Given the description of an element on the screen output the (x, y) to click on. 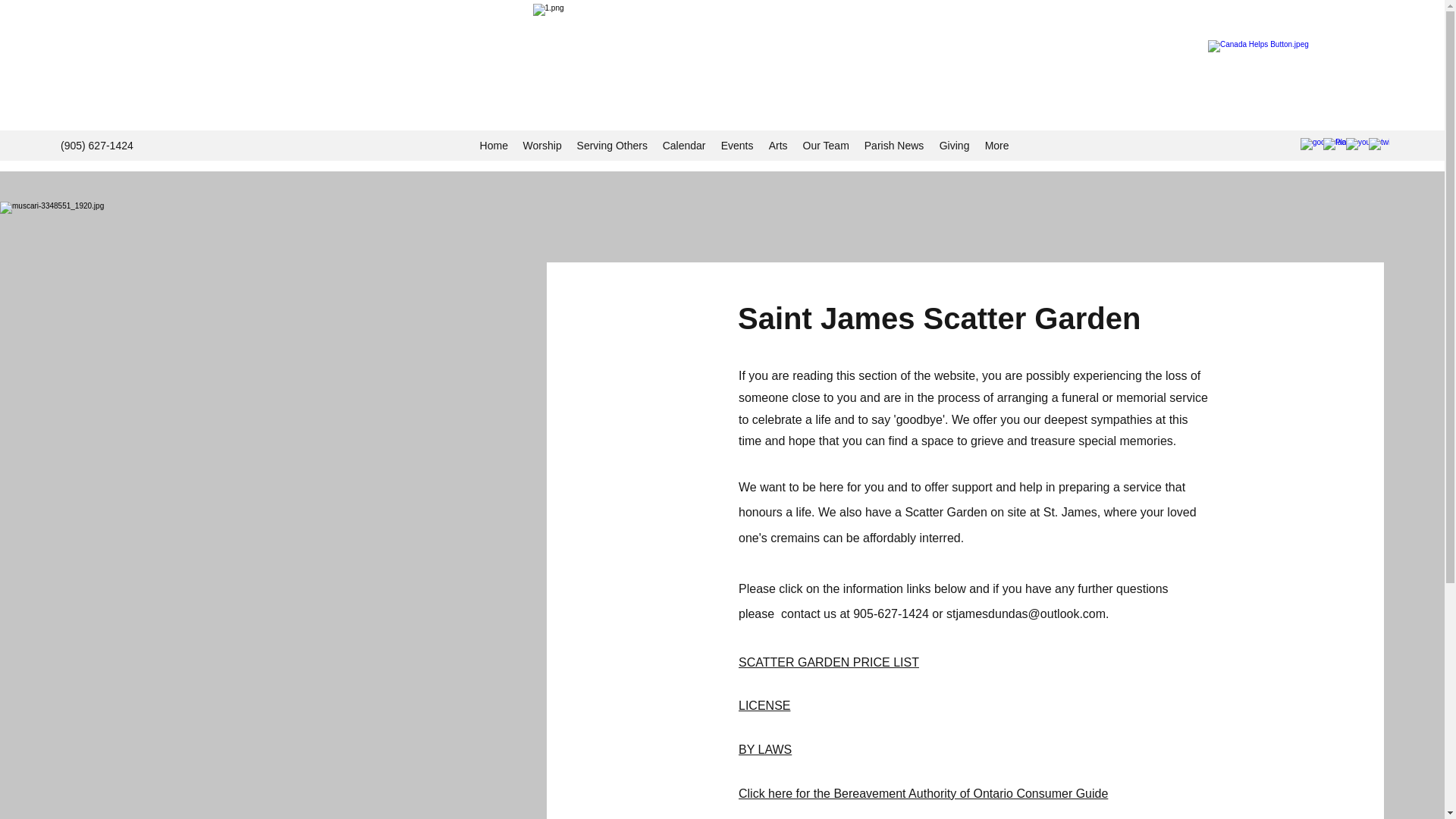
Home (493, 145)
Serving Others (612, 145)
BY LAWS (765, 748)
Parish News (894, 145)
Our Team (825, 145)
Calendar (684, 145)
SCATTER GARDEN PRICE LIST (828, 662)
Worship (542, 145)
LICENSE (764, 705)
